Given the description of an element on the screen output the (x, y) to click on. 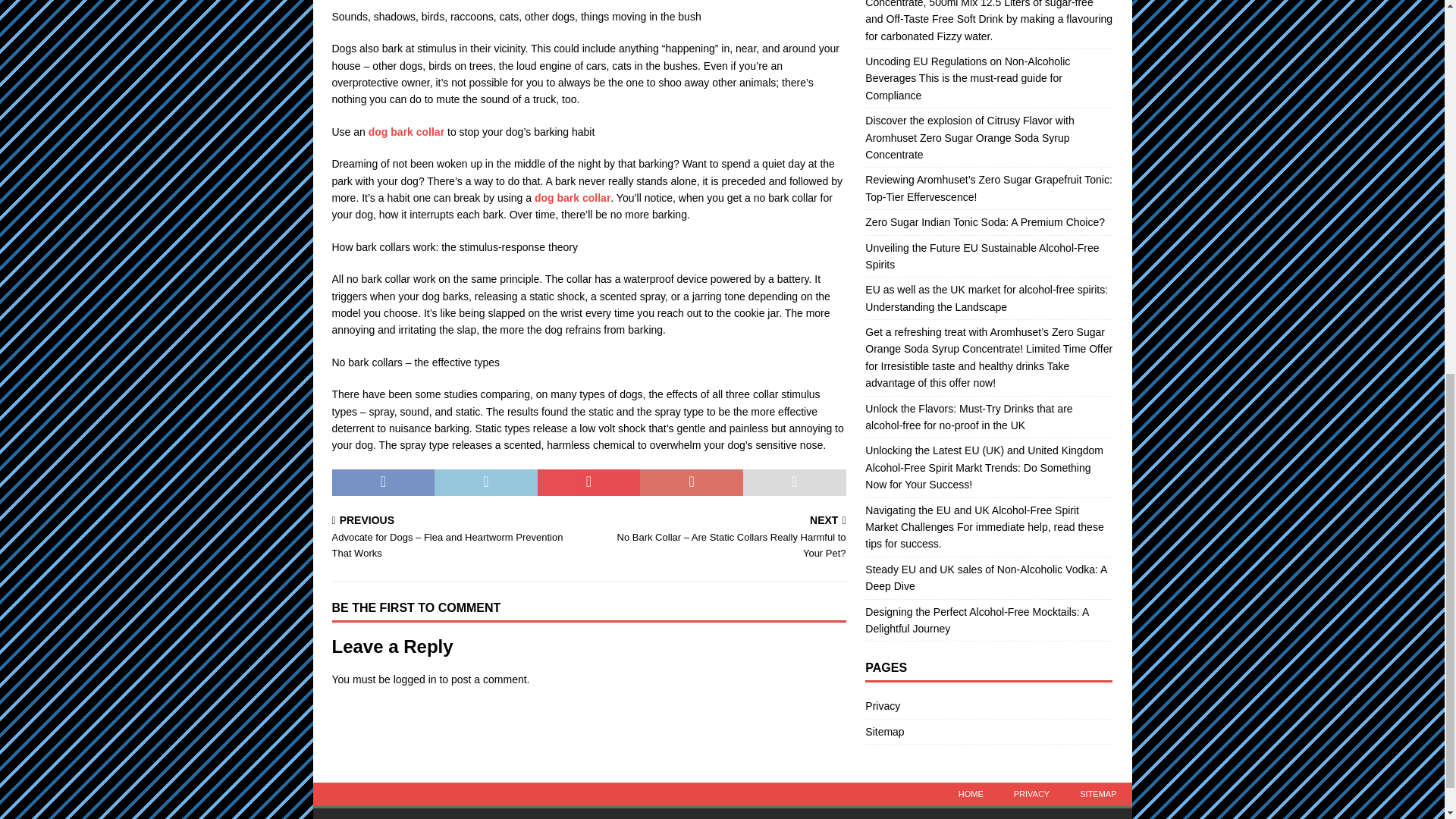
dog bark collar (572, 197)
dog bark collar (406, 132)
logged in (414, 679)
